Given the description of an element on the screen output the (x, y) to click on. 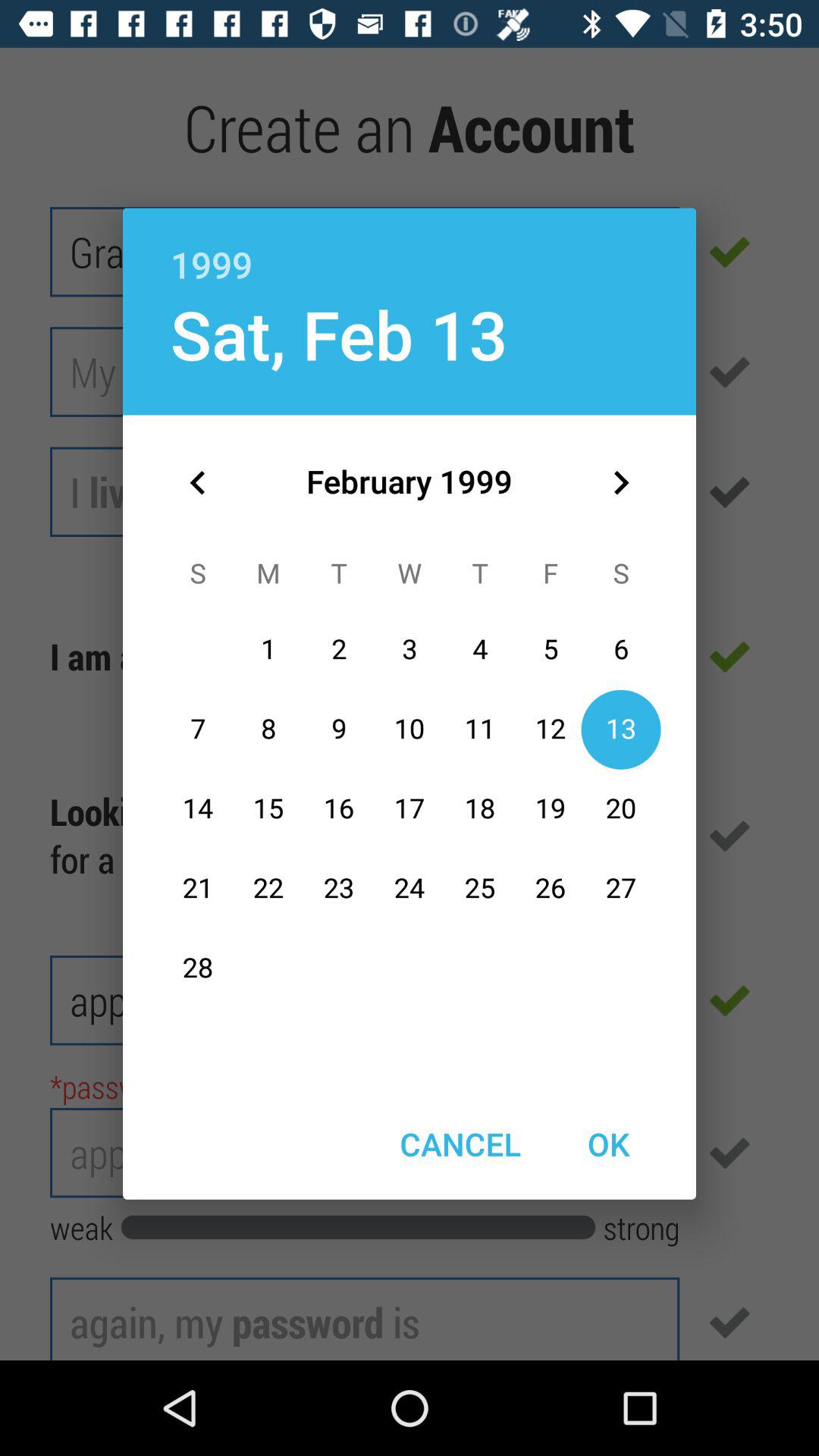
turn off icon below the 1999 item (338, 333)
